Given the description of an element on the screen output the (x, y) to click on. 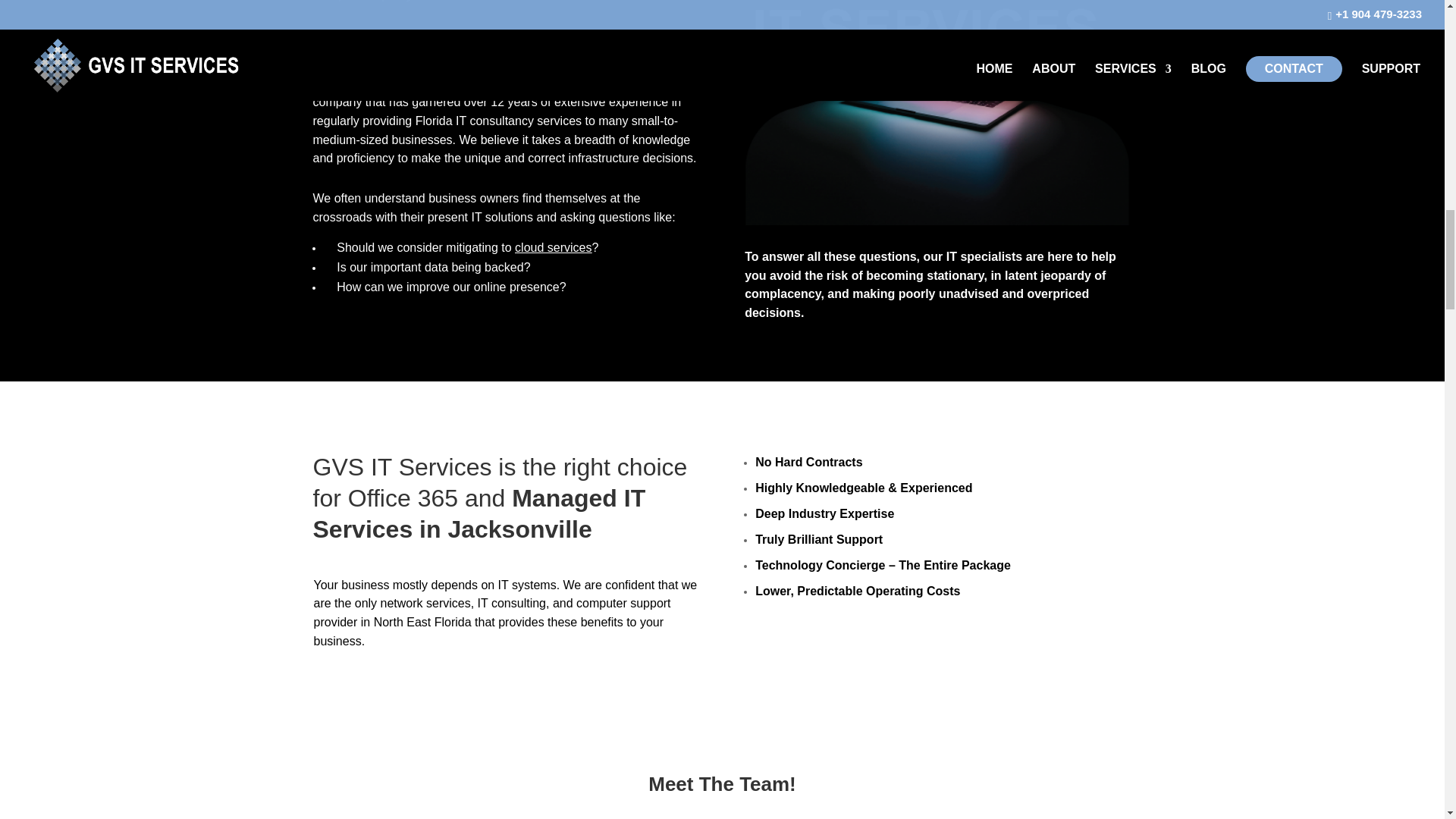
Jacksonville managed IT services company (498, 92)
cloud services (553, 246)
computer technology (937, 112)
computer support provider (492, 612)
Get in touch. (497, 44)
